Given the description of an element on the screen output the (x, y) to click on. 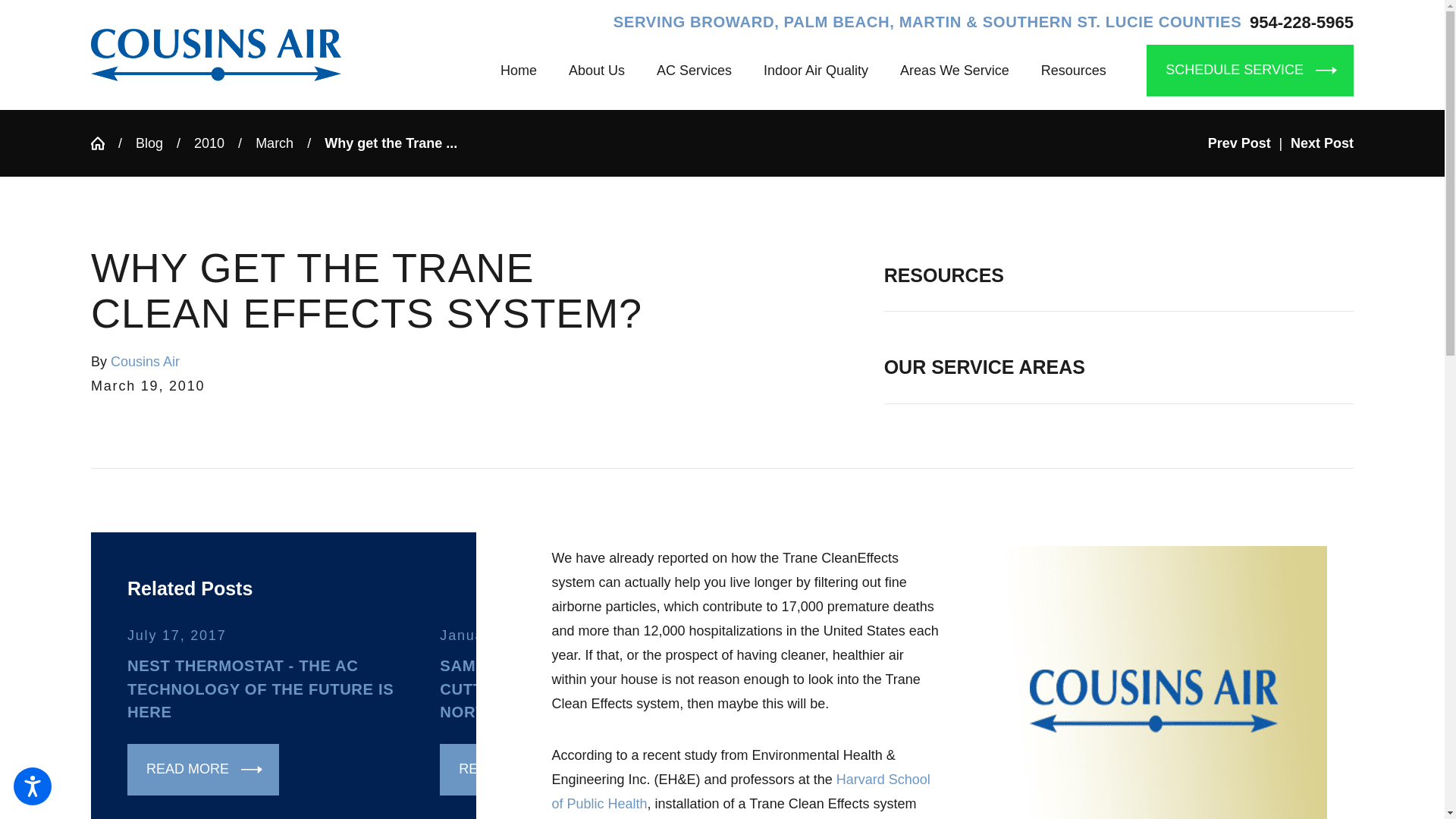
Cousin's Air, Inc. (215, 54)
Go Home (103, 142)
Home (526, 69)
AC Services (694, 69)
954-228-5965 (1301, 22)
About Us (596, 69)
Harvard School of Public Health (740, 791)
Open the accessibility options menu (31, 786)
